Given the description of an element on the screen output the (x, y) to click on. 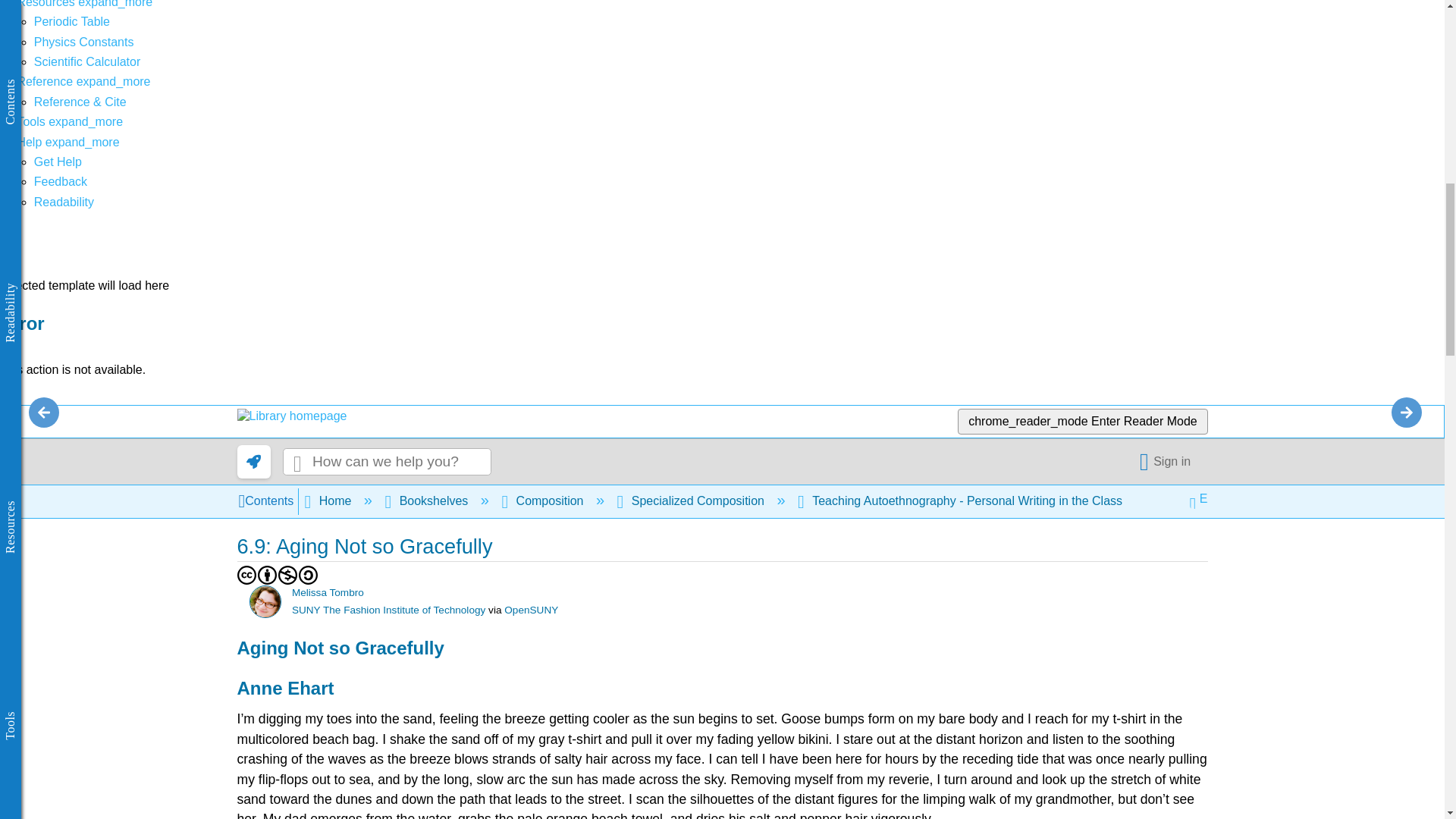
Single Sign-On (1167, 461)
Physics Constants (83, 42)
Periodic Table (71, 21)
SA (307, 574)
BY (267, 574)
Melissa Tombro (265, 601)
NC (288, 574)
Get Help (57, 161)
Readability (63, 201)
Scientific Calculator (87, 61)
Feedback (60, 181)
CC (246, 574)
